Given the description of an element on the screen output the (x, y) to click on. 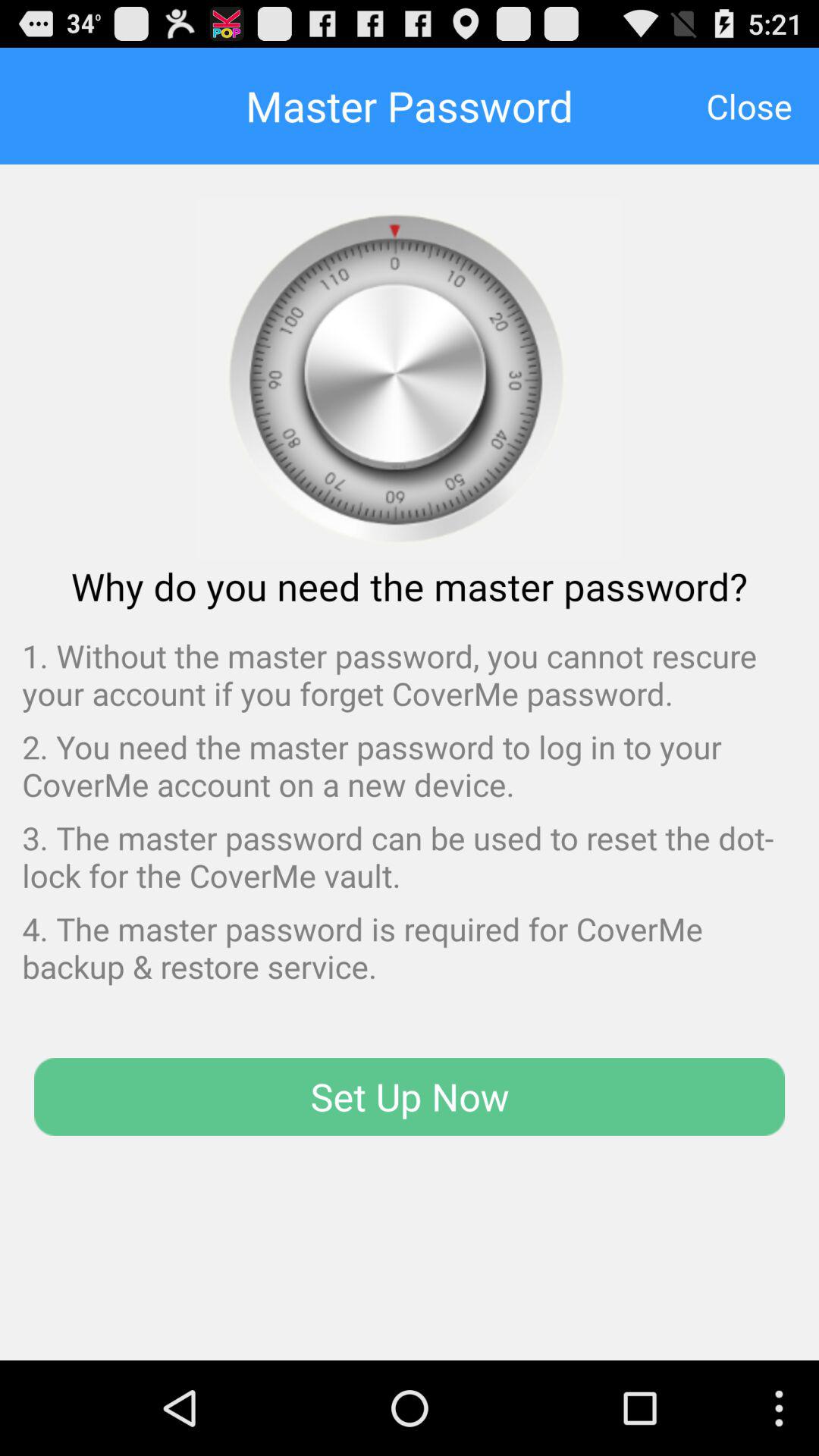
scroll until set up now button (409, 1096)
